Given the description of an element on the screen output the (x, y) to click on. 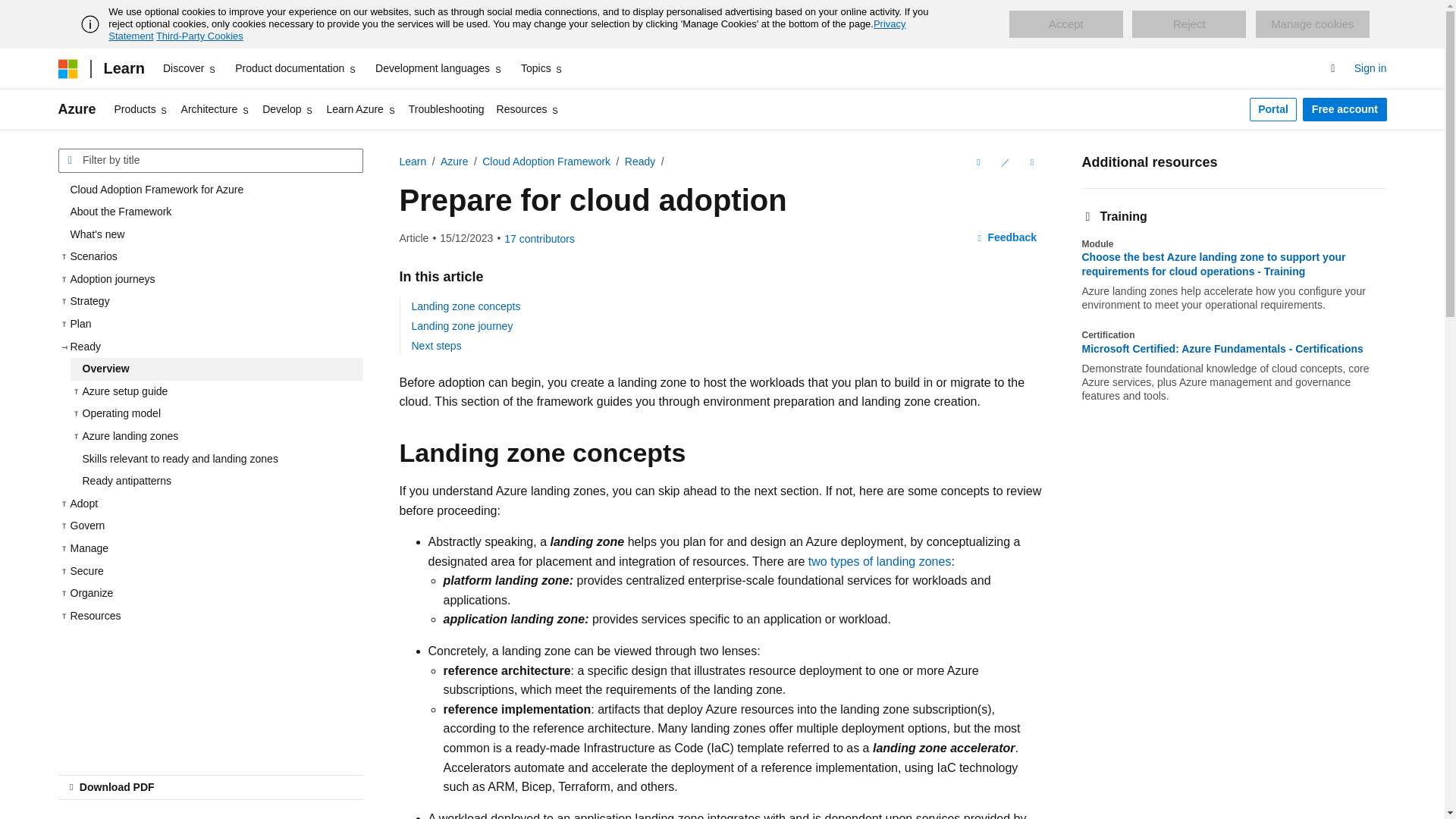
Topics (542, 68)
Development languages (438, 68)
Sign in (1370, 68)
Skip to main content (11, 11)
Product documentation (295, 68)
Reject (1189, 23)
Accept (1065, 23)
Manage cookies (1312, 23)
Products (140, 109)
Edit This Document (1004, 161)
View all contributors (539, 238)
Discover (189, 68)
Learn (123, 68)
Third-Party Cookies (199, 35)
Azure (77, 109)
